Given the description of an element on the screen output the (x, y) to click on. 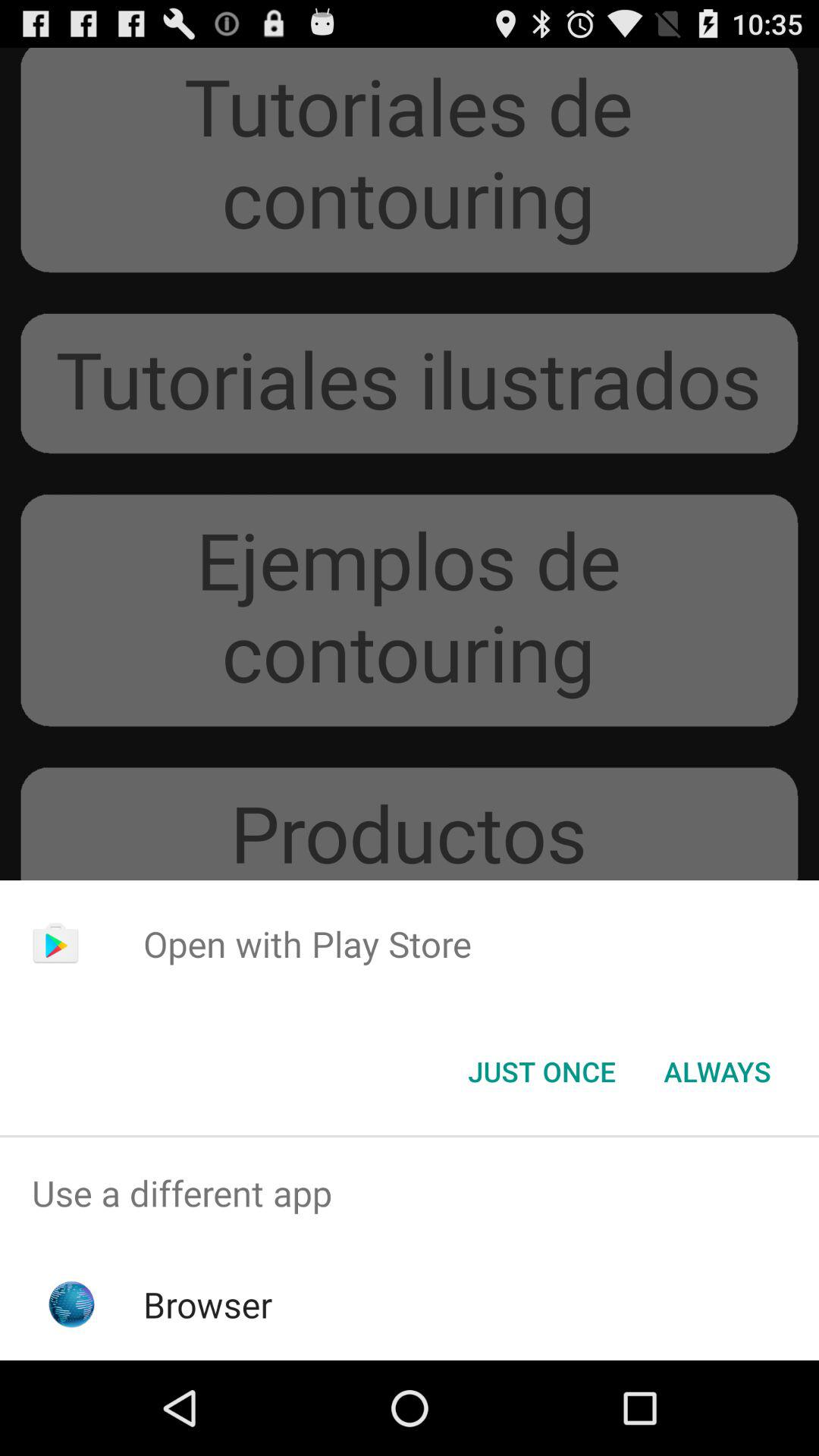
flip until the always icon (717, 1071)
